Given the description of an element on the screen output the (x, y) to click on. 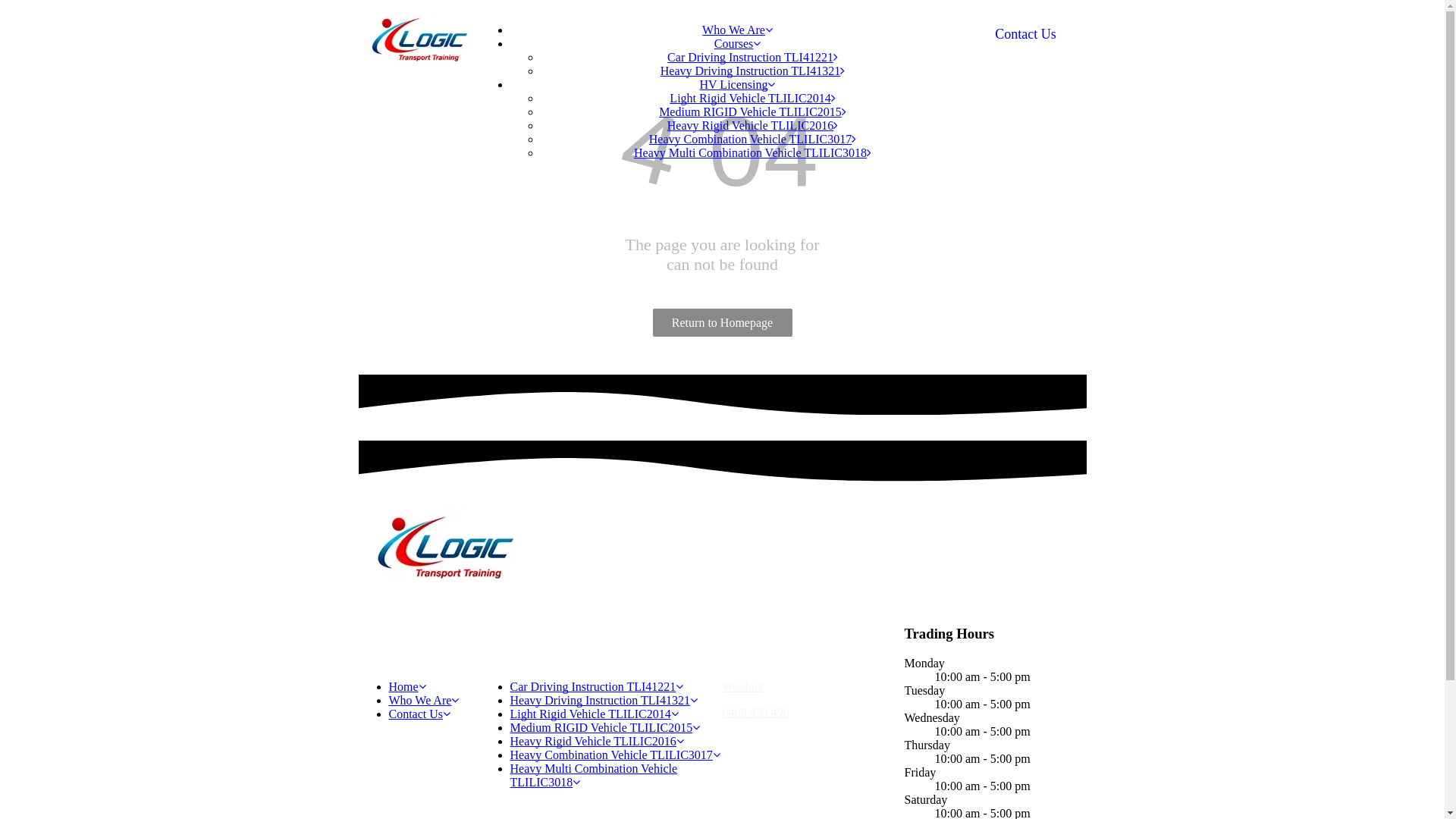
Logic Transport Training: Reliable Driver Training in Darwin Element type: hover (418, 38)
Heavy Combination Vehicle TLILIC3017 Element type: text (614, 754)
Heavy Rigid Vehicle TLILIC2016 Element type: text (752, 125)
Medium RIGID Vehicle TLILIC2015 Element type: text (604, 727)
Heavy Multi Combination Vehicle TLILIC3018 Element type: text (593, 775)
Heavy Multi Combination Vehicle TLILIC3018 Element type: text (752, 152)
Contact Us Element type: text (419, 713)
Light Rigid Vehicle TLILIC2014 Element type: text (593, 713)
Return to Homepage Element type: text (721, 322)
Logic Transport Training: Reliable Driver Training in Darwin Element type: hover (443, 546)
Heavy Driving Instruction TLI41321 Element type: text (752, 70)
Who We Are Element type: text (737, 29)
Light Rigid Vehicle TLILIC2014 Element type: text (751, 97)
HV Licensing Element type: text (737, 84)
Car Driving Instruction TLI41221 Element type: text (752, 56)
Woolner Element type: text (742, 686)
Medium RIGID Vehicle TLILIC2015 Element type: text (752, 111)
Heavy Rigid Vehicle TLILIC2016 Element type: text (596, 740)
0408 439 490 Element type: text (754, 712)
Car Driving Instruction TLI41221 Element type: text (596, 686)
Who We Are Element type: text (423, 699)
Courses Element type: text (737, 43)
Heavy Driving Instruction TLI41321 Element type: text (602, 699)
Contact Us Element type: text (1024, 34)
Heavy Combination Vehicle TLILIC3017 Element type: text (752, 138)
Home Element type: text (406, 686)
